Given the description of an element on the screen output the (x, y) to click on. 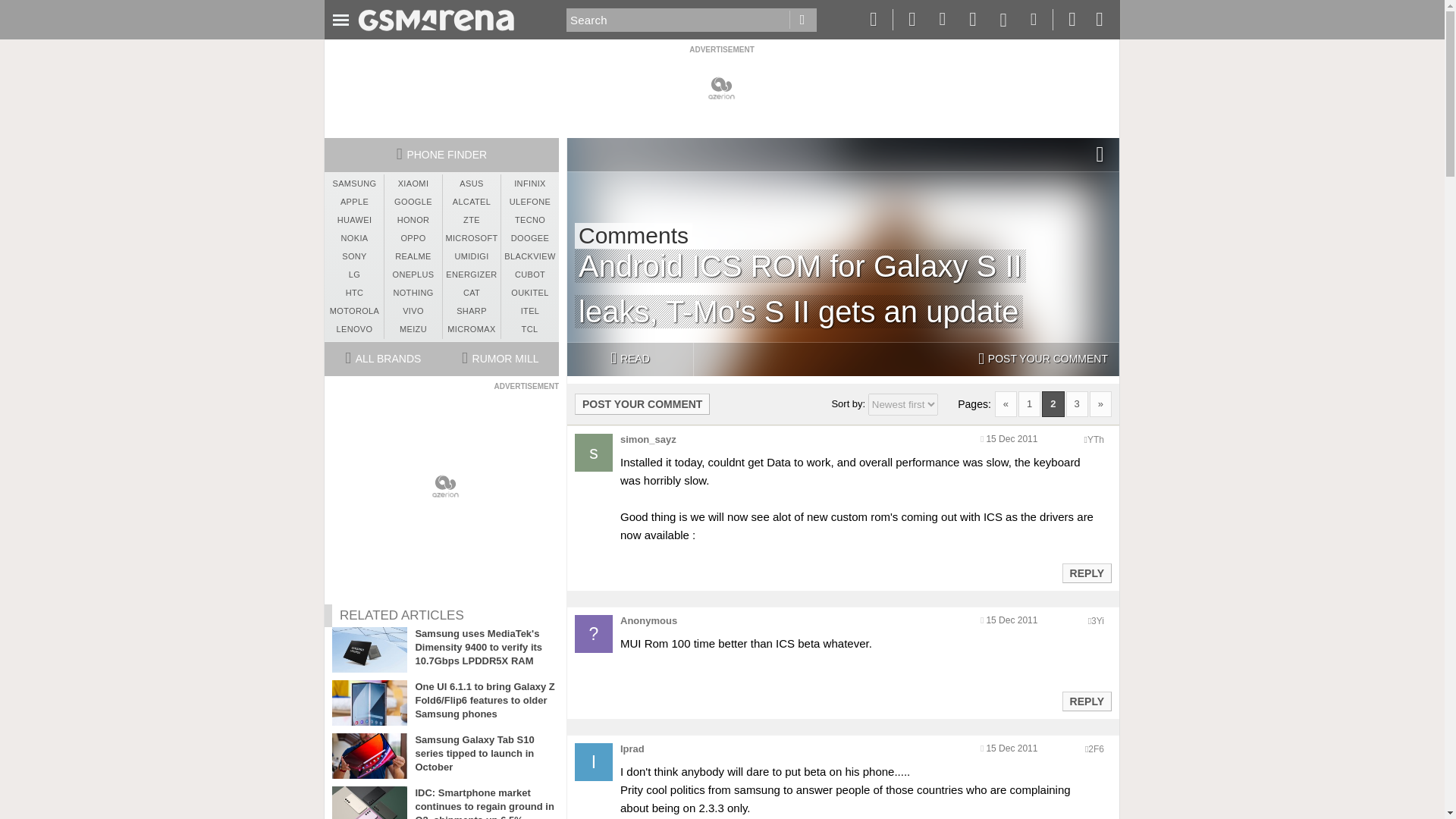
Encoded anonymized location (1095, 439)
REPLY (1086, 701)
READ (630, 359)
Encoded anonymized location (1095, 748)
Reply to this post (1086, 701)
Sort comments by (902, 404)
POST YOUR COMMENT (642, 403)
REPLY (1086, 573)
POST YOUR COMMENT (1042, 359)
Go (802, 19)
Reply to this post (1086, 573)
Encoded anonymized location (1096, 620)
Go (802, 19)
